Given the description of an element on the screen output the (x, y) to click on. 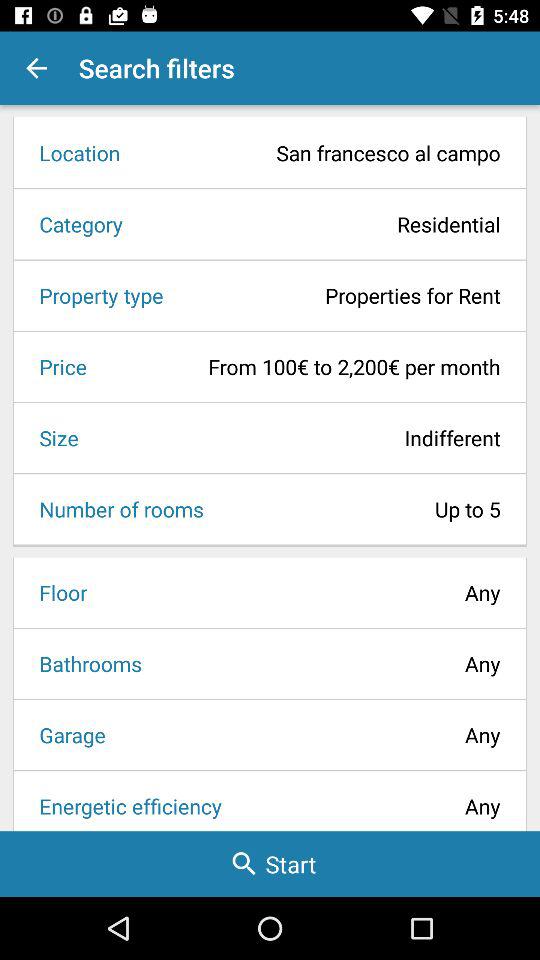
select app next to search filters item (36, 68)
